Given the description of an element on the screen output the (x, y) to click on. 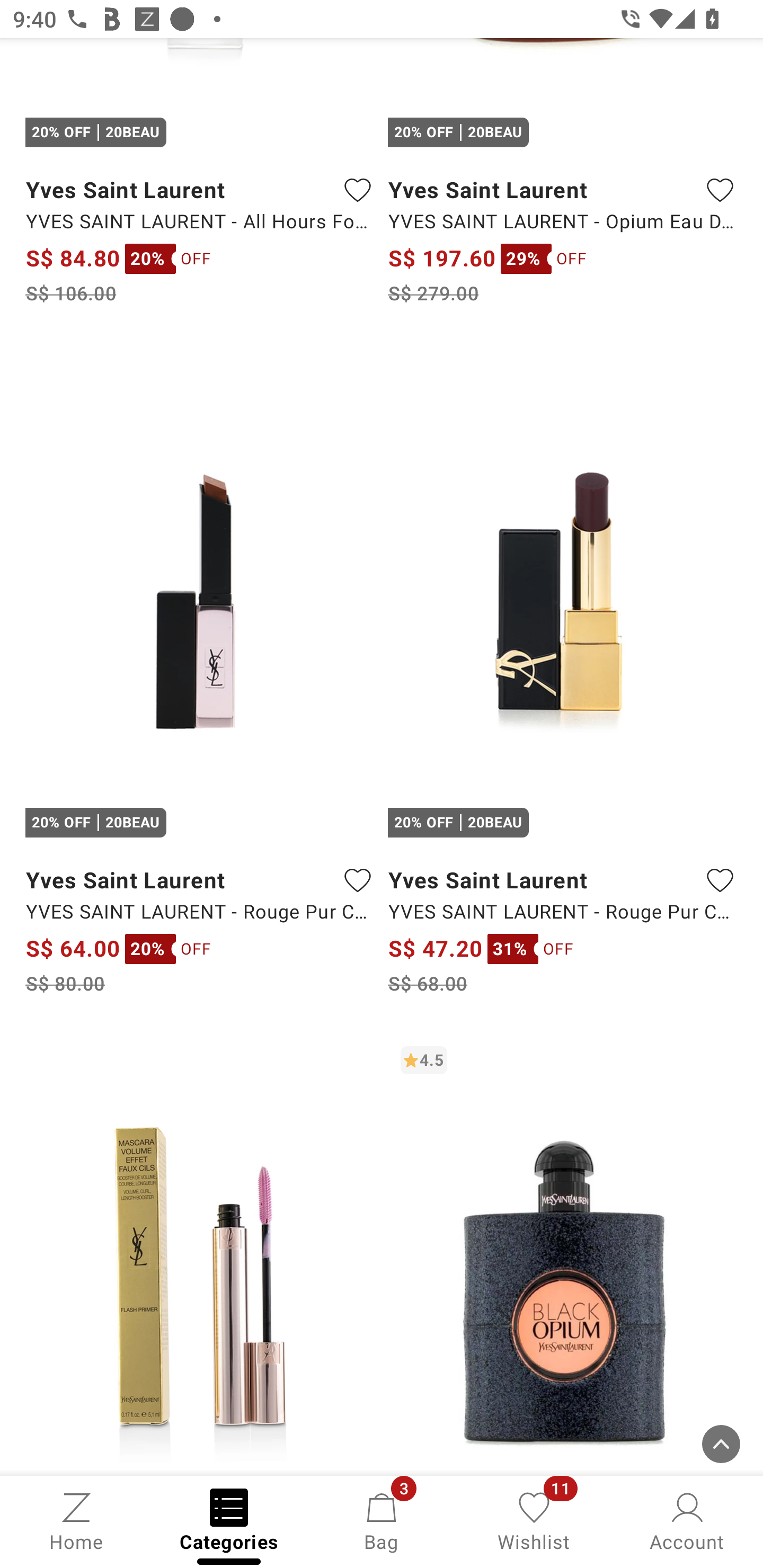
4.5 (562, 1254)
Home (76, 1519)
Bag, 3 new notifications Bag (381, 1519)
Wishlist, 11 new notifications Wishlist (533, 1519)
Account (686, 1519)
